Given the description of an element on the screen output the (x, y) to click on. 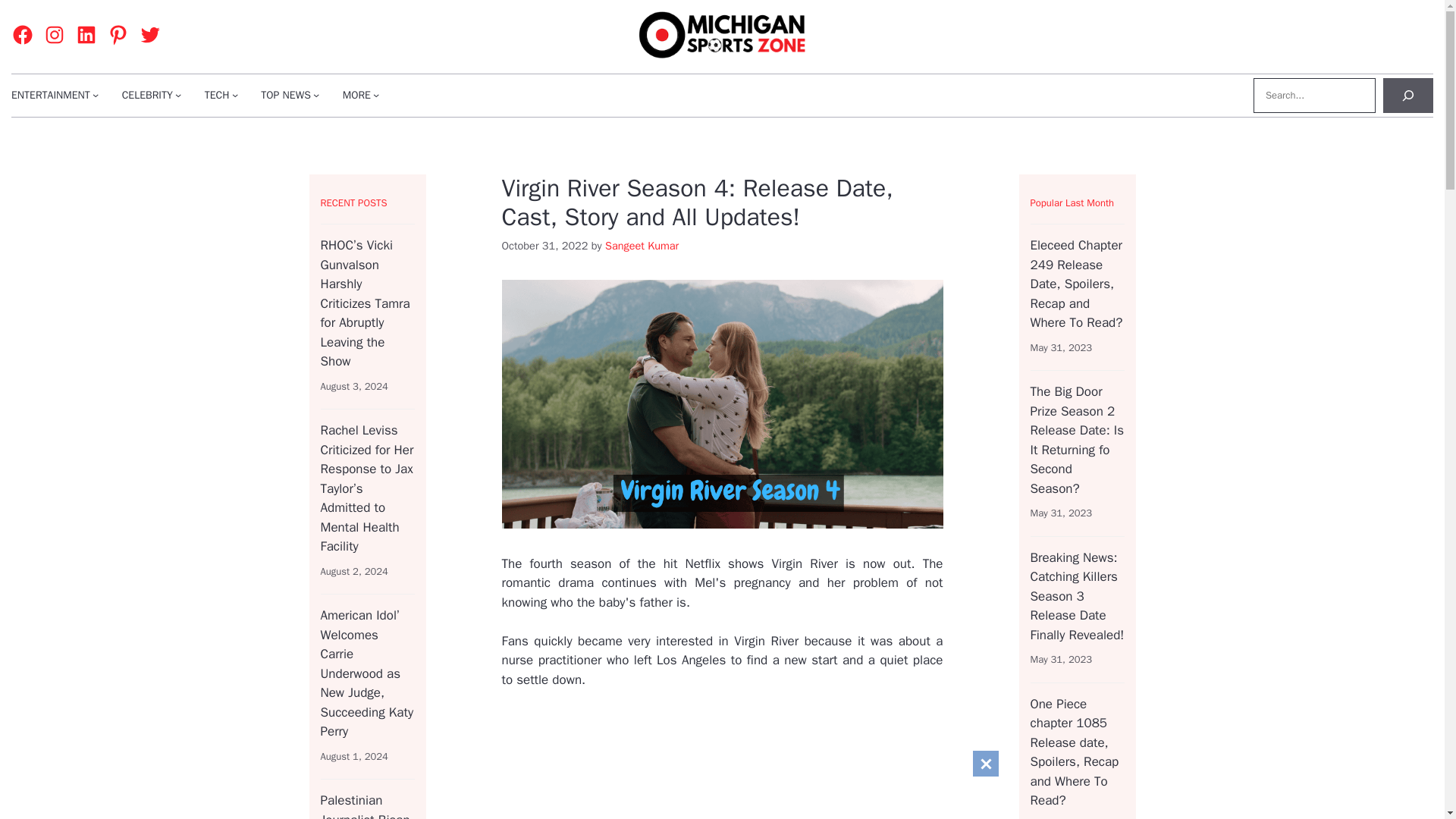
Instagram (54, 34)
View all posts by Sangeet Kumar (641, 245)
Advertisement (837, 764)
CELEBRITY (147, 94)
Sangeet Kumar (641, 245)
Twitter (149, 34)
LinkedIn (86, 34)
ENTERTAINMENT (50, 94)
Pinterest (117, 34)
TECH (217, 94)
MORE (356, 94)
TOP NEWS (285, 94)
